Given the description of an element on the screen output the (x, y) to click on. 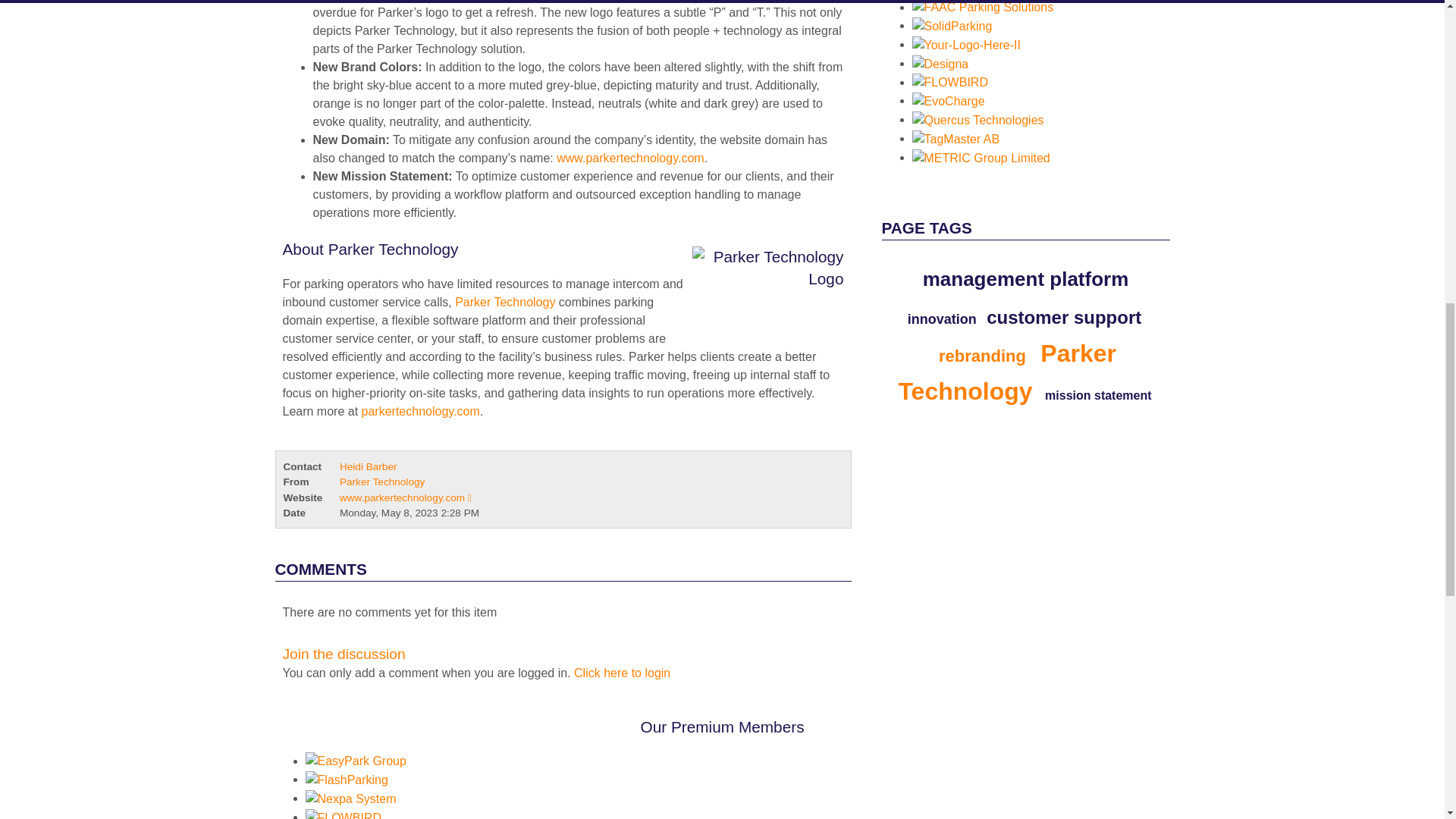
parkertechnology.com (420, 410)
Parker Technology (504, 301)
www.parkertechnology.com (629, 157)
View website of Parker Technology (405, 497)
Parker Technology Logo (763, 284)
Click here to login (621, 672)
View profile of Parker Technology (382, 481)
